Given the description of an element on the screen output the (x, y) to click on. 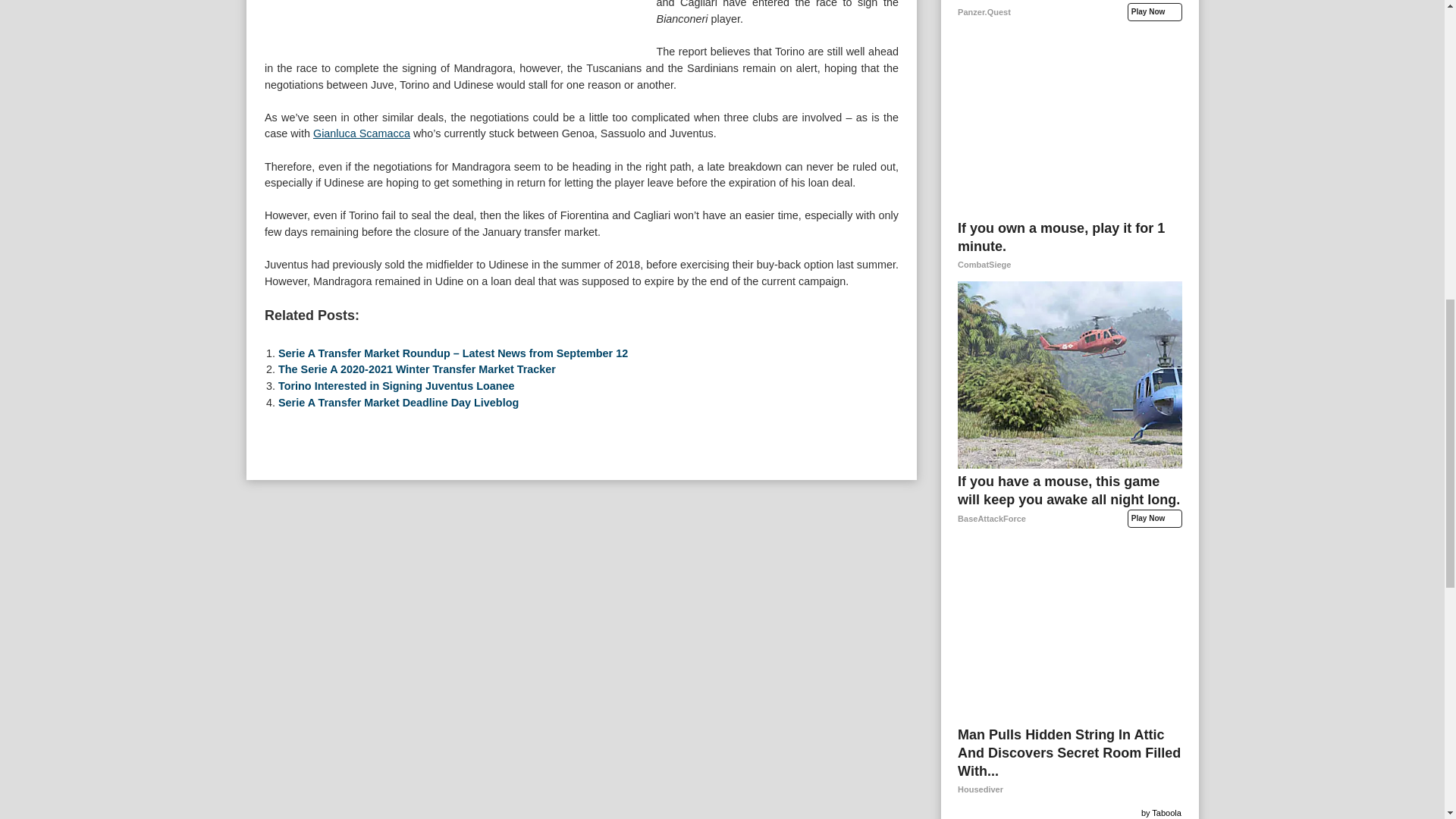
Torino Interested in Signing Juventus Loanee (396, 386)
The Serie A 2020-2021 Winter Transfer Market Tracker (417, 369)
Serie A Transfer Market Deadline Day Liveblog (398, 402)
